Given the description of an element on the screen output the (x, y) to click on. 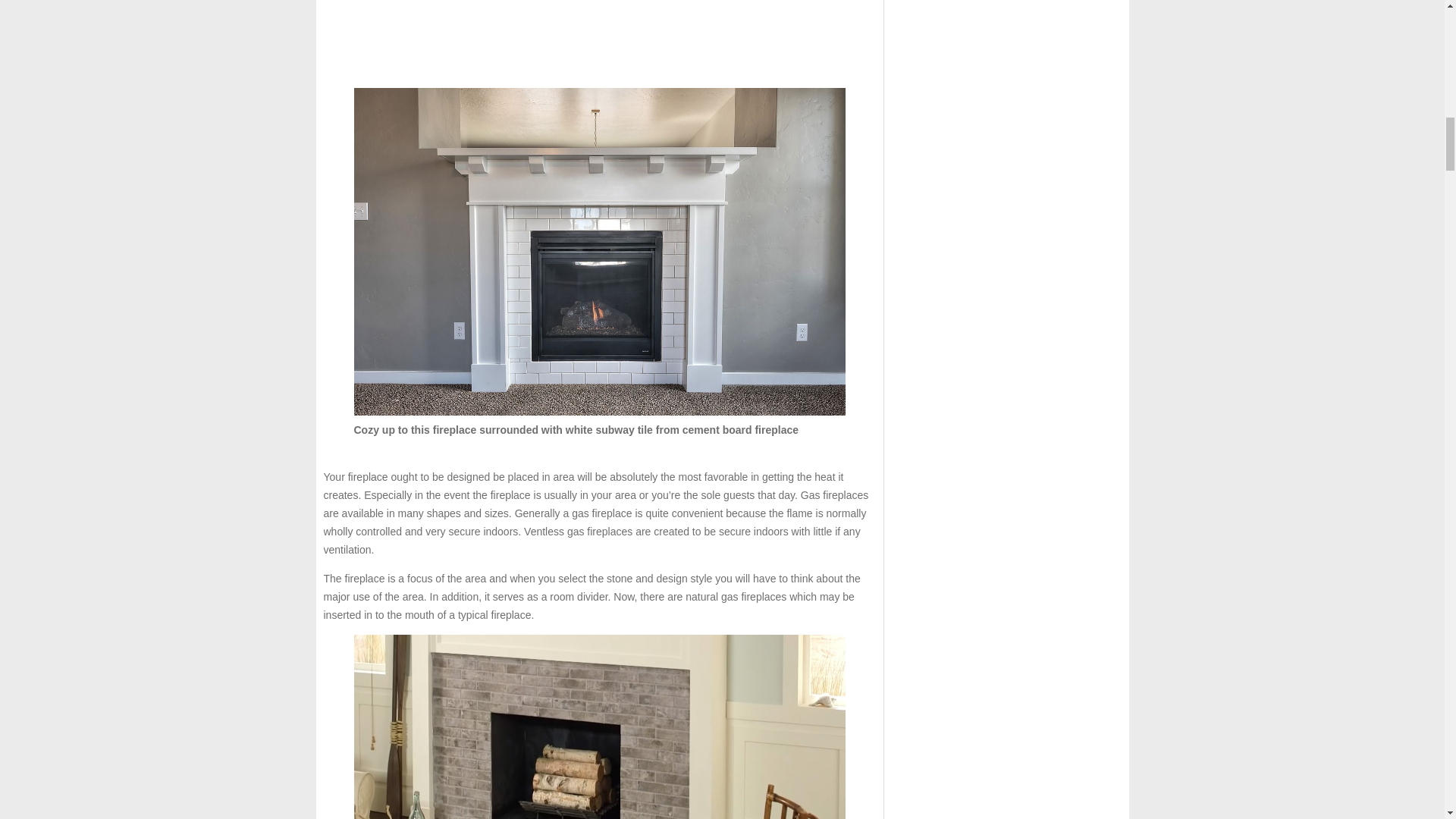
How to Tile a Fireplace with wikiHow (598, 726)
Advertisement (599, 38)
